Given the description of an element on the screen output the (x, y) to click on. 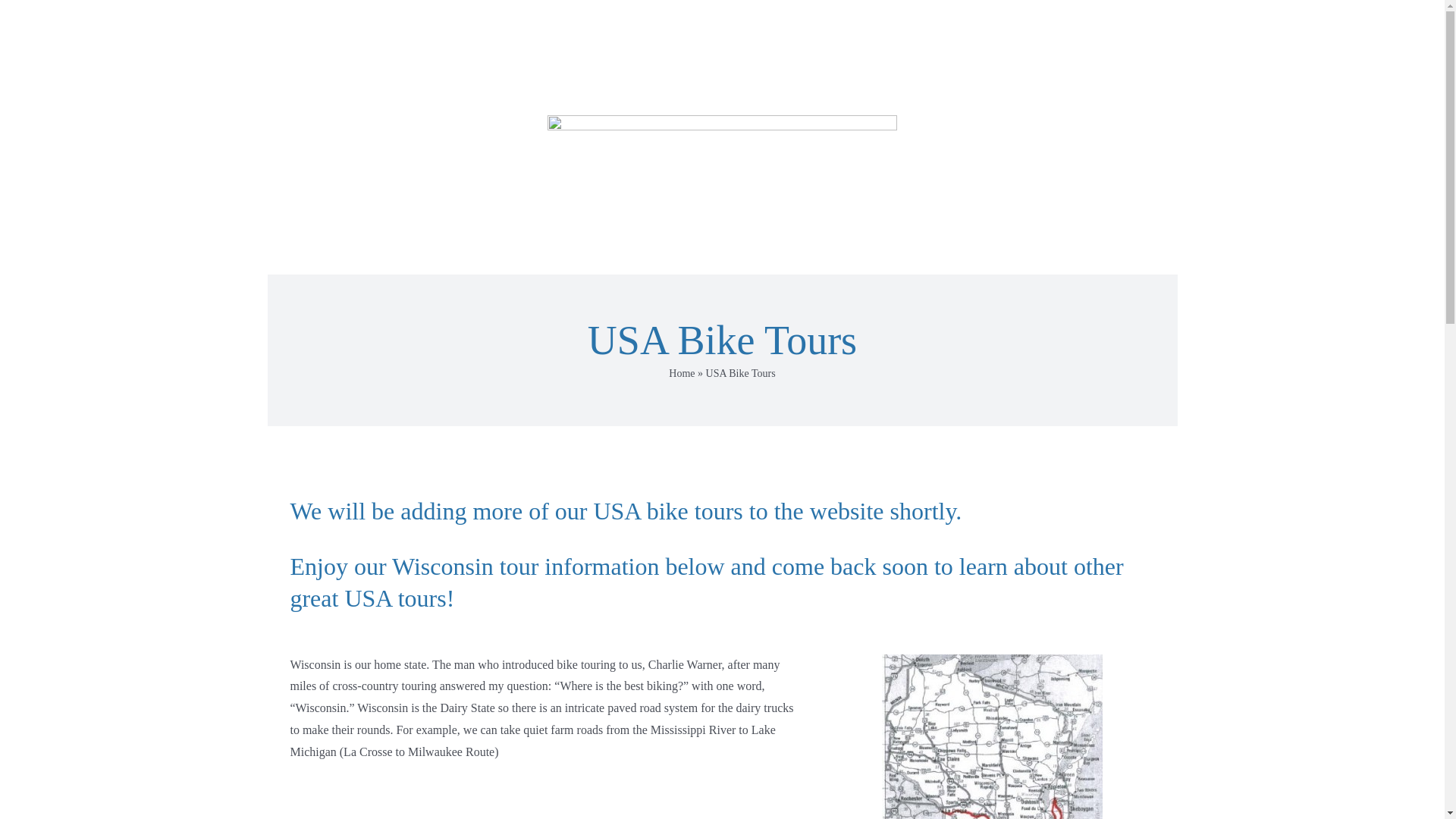
Home (681, 373)
Home (339, 27)
Top 25 World Bike Destinations (651, 27)
World Bike Destinations (460, 27)
USA Bike Tours (820, 27)
Contact Us (1091, 27)
Helpful Information (963, 27)
